Given the description of an element on the screen output the (x, y) to click on. 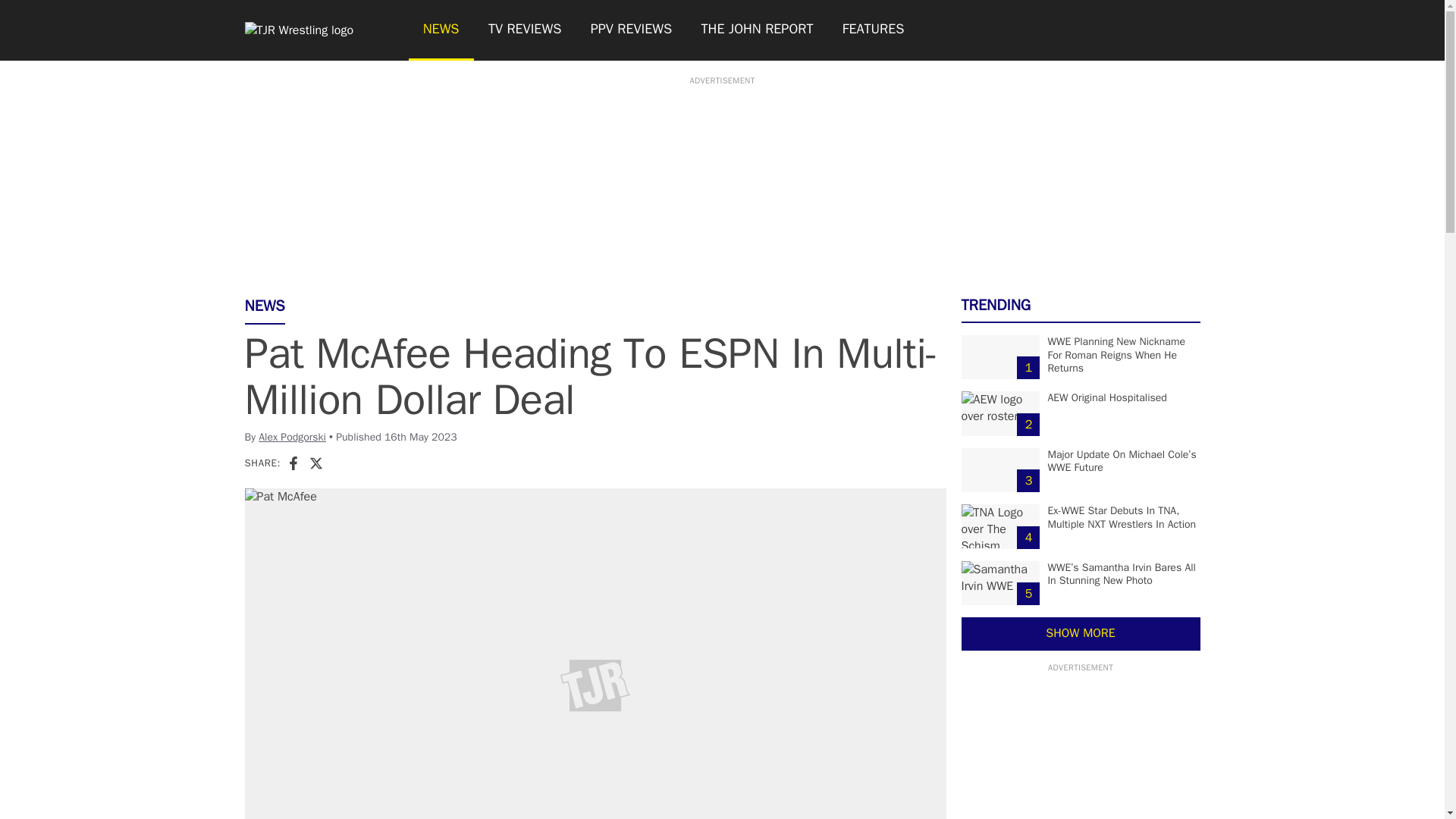
NEWS (440, 30)
Facebook (292, 462)
TV REVIEWS (525, 30)
X (315, 463)
THE JOHN REPORT (756, 30)
Facebook (292, 463)
FEATURES (873, 30)
PPV REVIEWS (631, 30)
Alex Podgorski (292, 436)
X (315, 462)
